Given the description of an element on the screen output the (x, y) to click on. 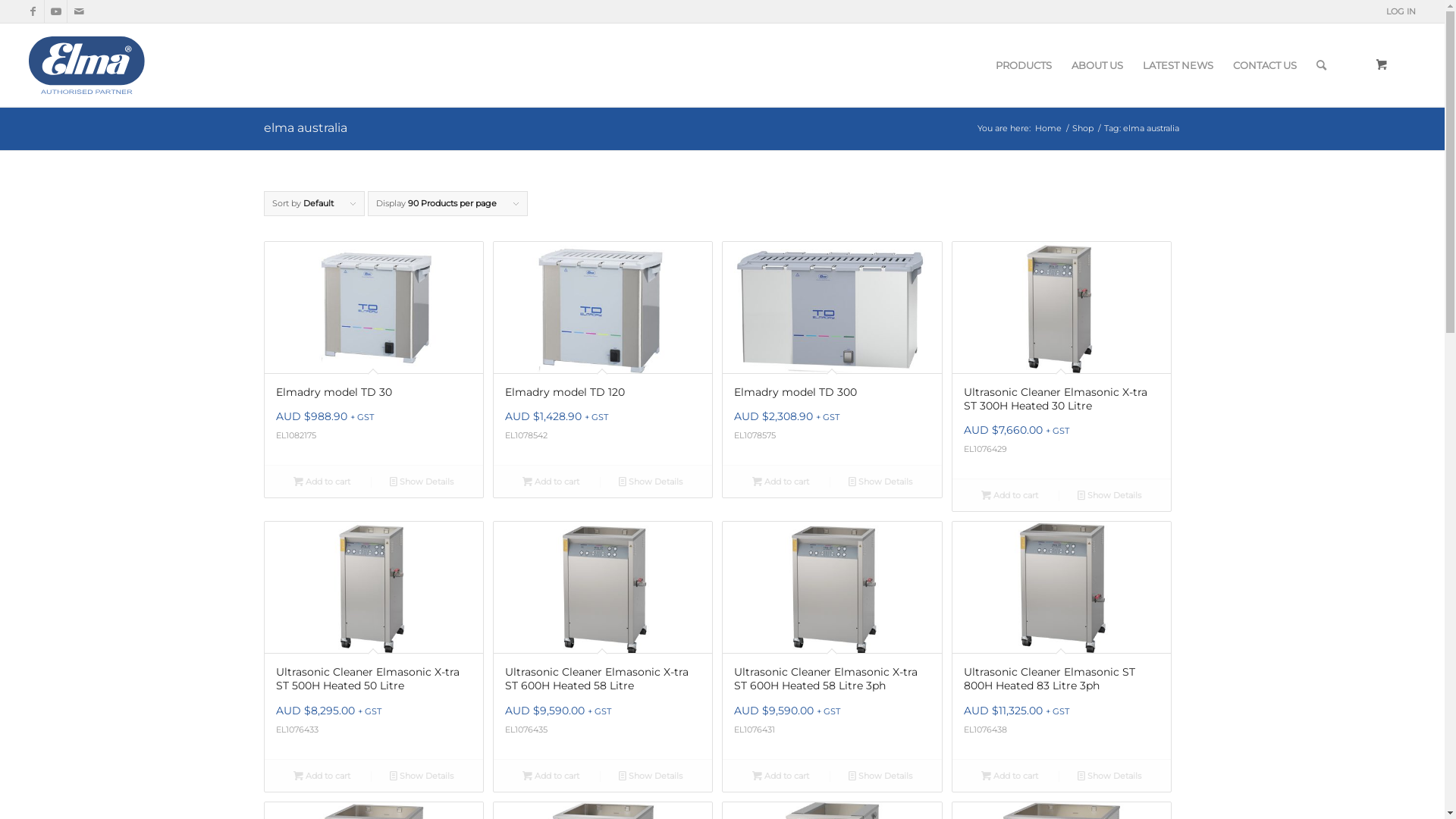
Add to cart Element type: text (551, 481)
LOG IN Element type: text (1400, 10)
Show Details Element type: text (421, 775)
Show Details Element type: text (880, 481)
PRODUCTS Element type: text (1023, 64)
Facebook Element type: hover (32, 11)
Show Details Element type: text (1109, 775)
Show Details Element type: text (880, 775)
CONTACT US Element type: text (1264, 64)
Add to cart Element type: text (780, 481)
LATEST NEWS Element type: text (1177, 64)
Add to cart Element type: text (321, 775)
Show Details Element type: text (421, 481)
Elmadry model TD 30
AUD $988.90 + GST
EL1082175 Element type: text (372, 352)
Elmadry model TD 300
AUD $2,308.90 + GST
EL1078575 Element type: text (831, 352)
elma-01 Element type: hover (140, 64)
elma-01 Element type: hover (140, 64)
Show Details Element type: text (650, 481)
Home Element type: text (1047, 128)
ABOUT US Element type: text (1096, 64)
Add to cart Element type: text (1010, 494)
Elmadry model TD 120
AUD $1,428.90 + GST
EL1078542 Element type: text (602, 352)
Add to cart Element type: text (1010, 775)
Add to cart Element type: text (780, 775)
Show Details Element type: text (650, 775)
Add to cart Element type: text (321, 481)
Youtube Element type: hover (55, 11)
Add to cart Element type: text (551, 775)
Show Details Element type: text (1109, 494)
Shop Element type: text (1082, 128)
Mail Element type: hover (78, 11)
